Given the description of an element on the screen output the (x, y) to click on. 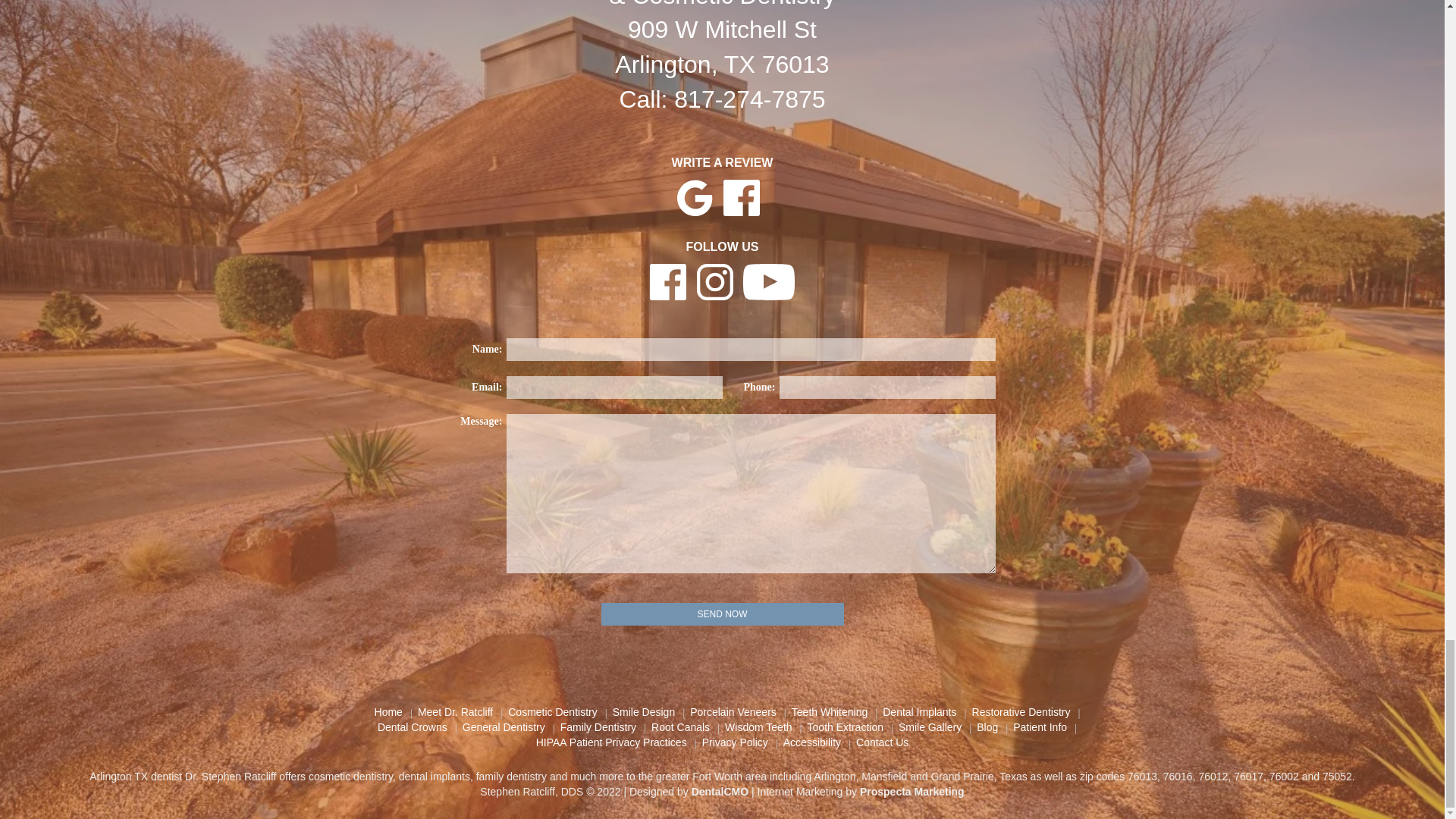
Send Now (721, 613)
